Given the description of an element on the screen output the (x, y) to click on. 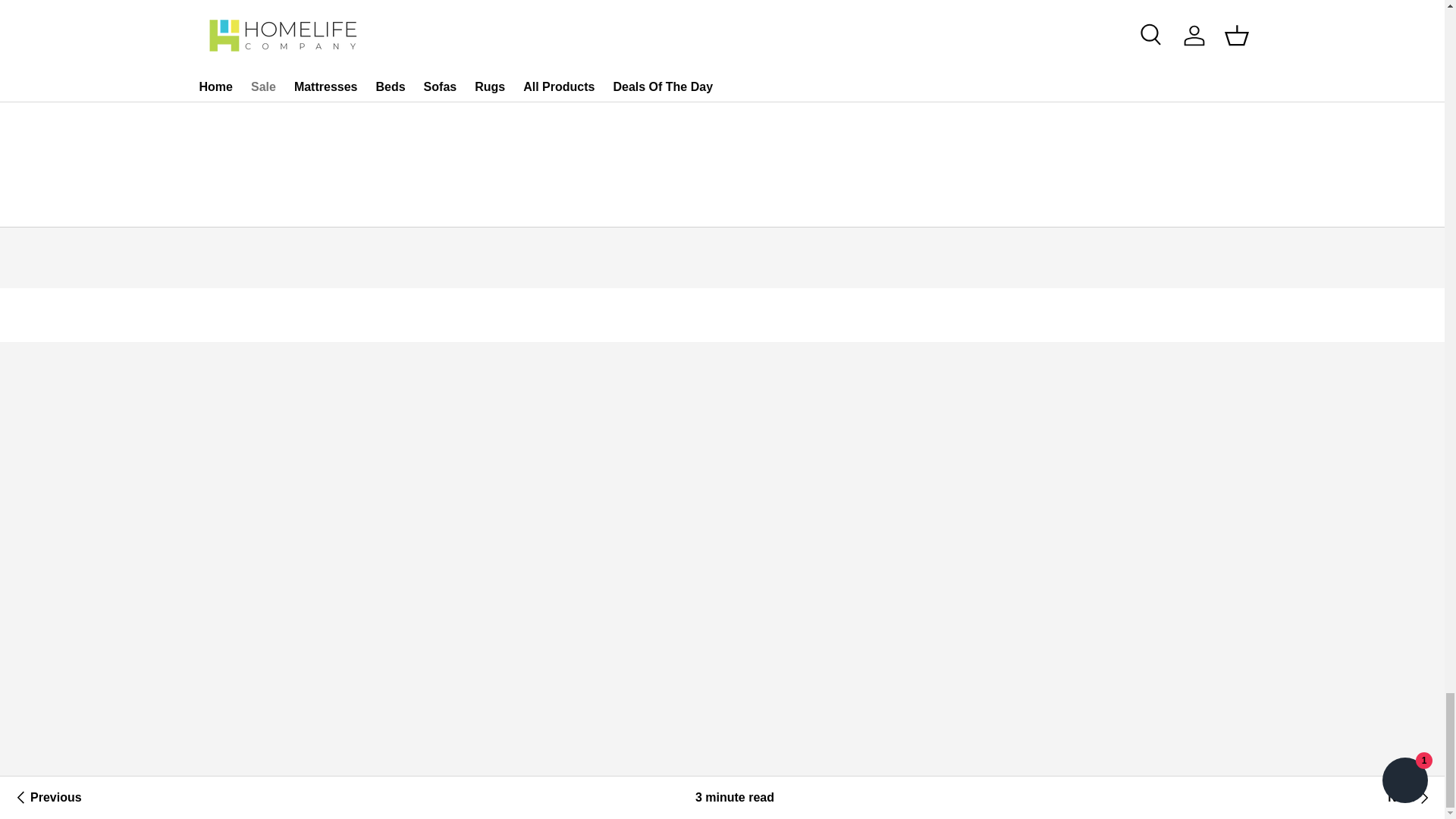
Pin on Pinterest (556, 71)
Share on Facebook (523, 71)
Tweet on Twitter (489, 71)
